Given the description of an element on the screen output the (x, y) to click on. 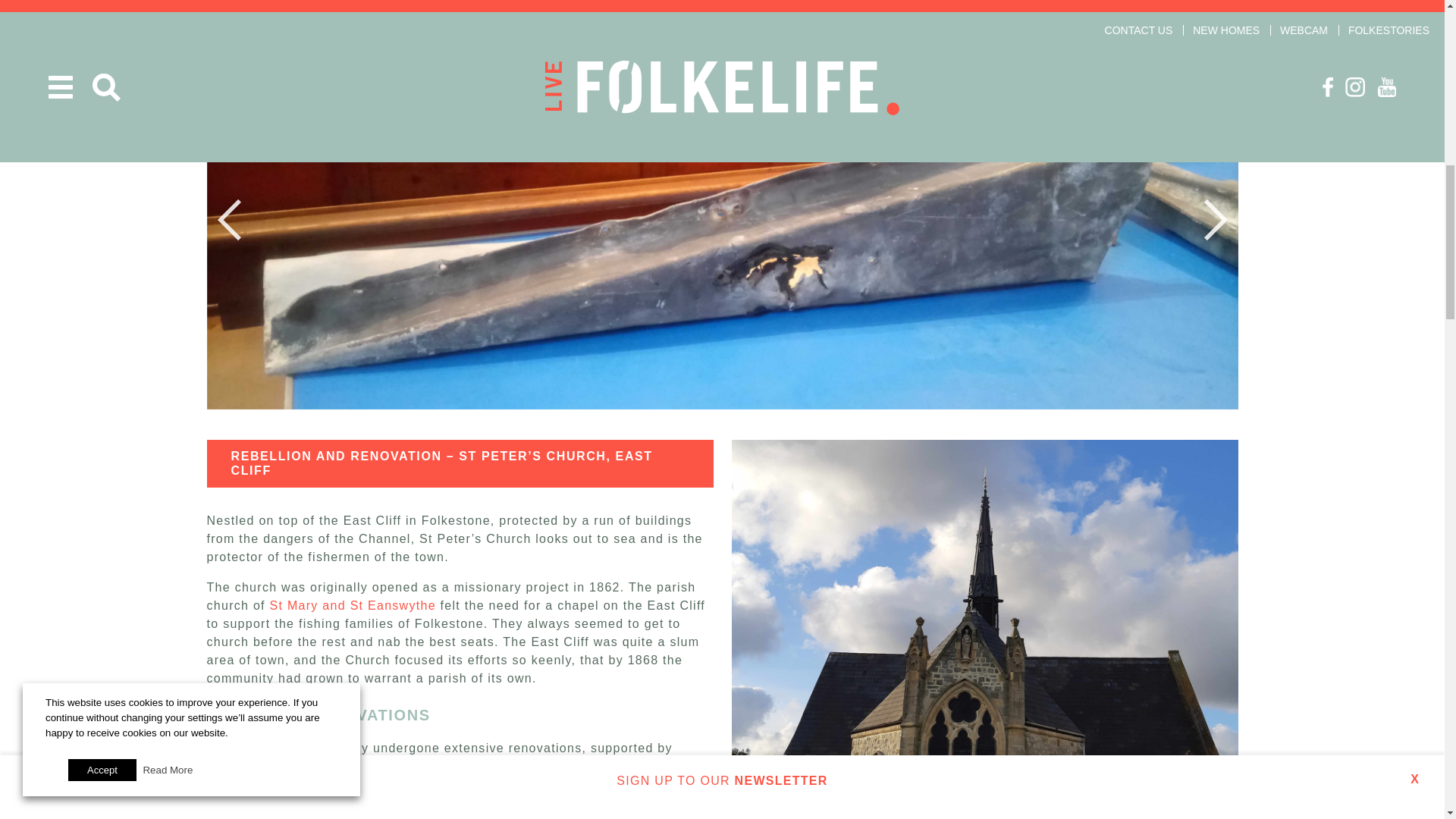
English Heritage (367, 766)
Heritage Lottery (256, 766)
Roger De Haan Charitable Trust (554, 766)
St Mary and St Eanswythe (352, 604)
